Given the description of an element on the screen output the (x, y) to click on. 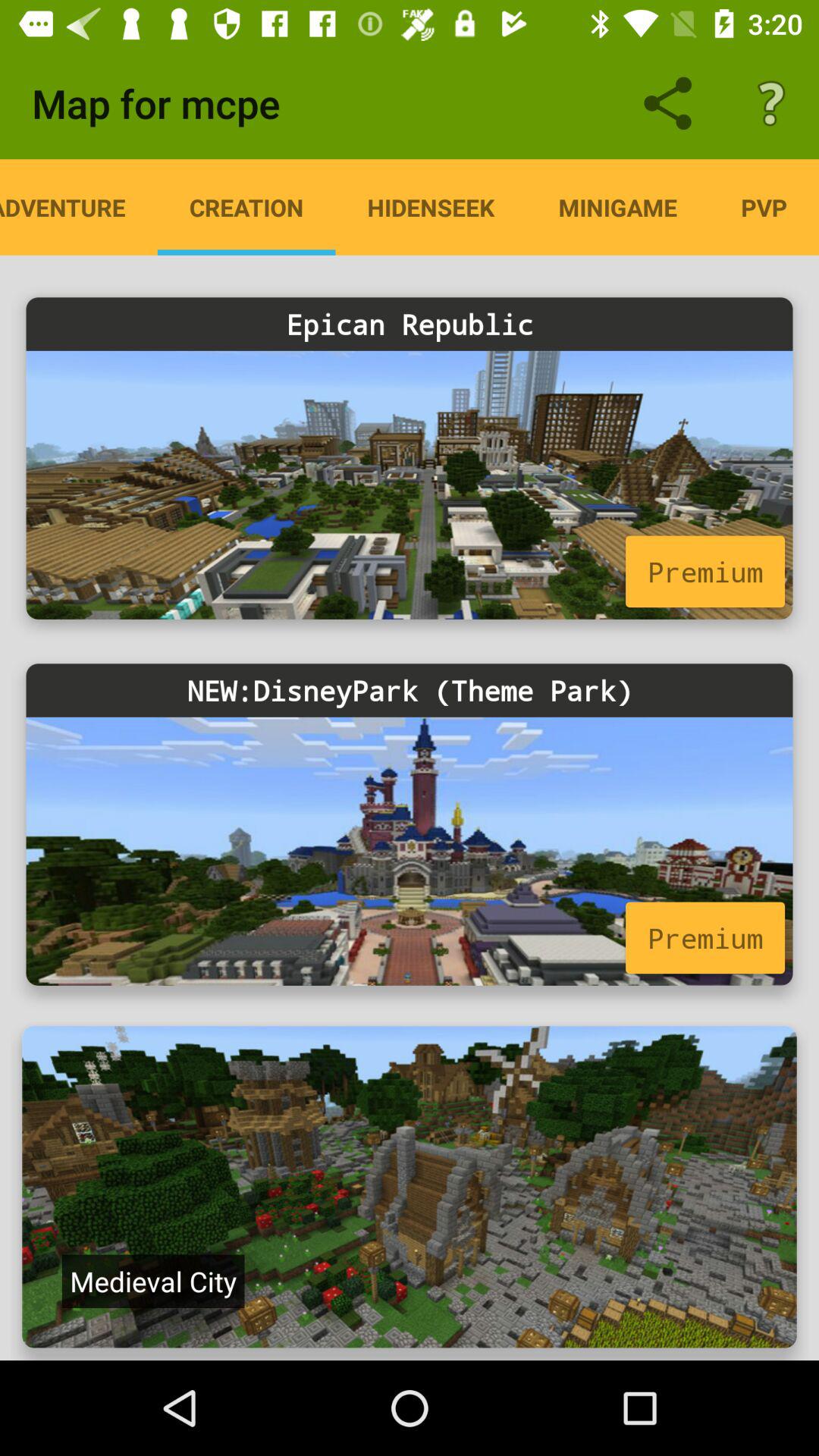
map for epican republic (409, 484)
